Given the description of an element on the screen output the (x, y) to click on. 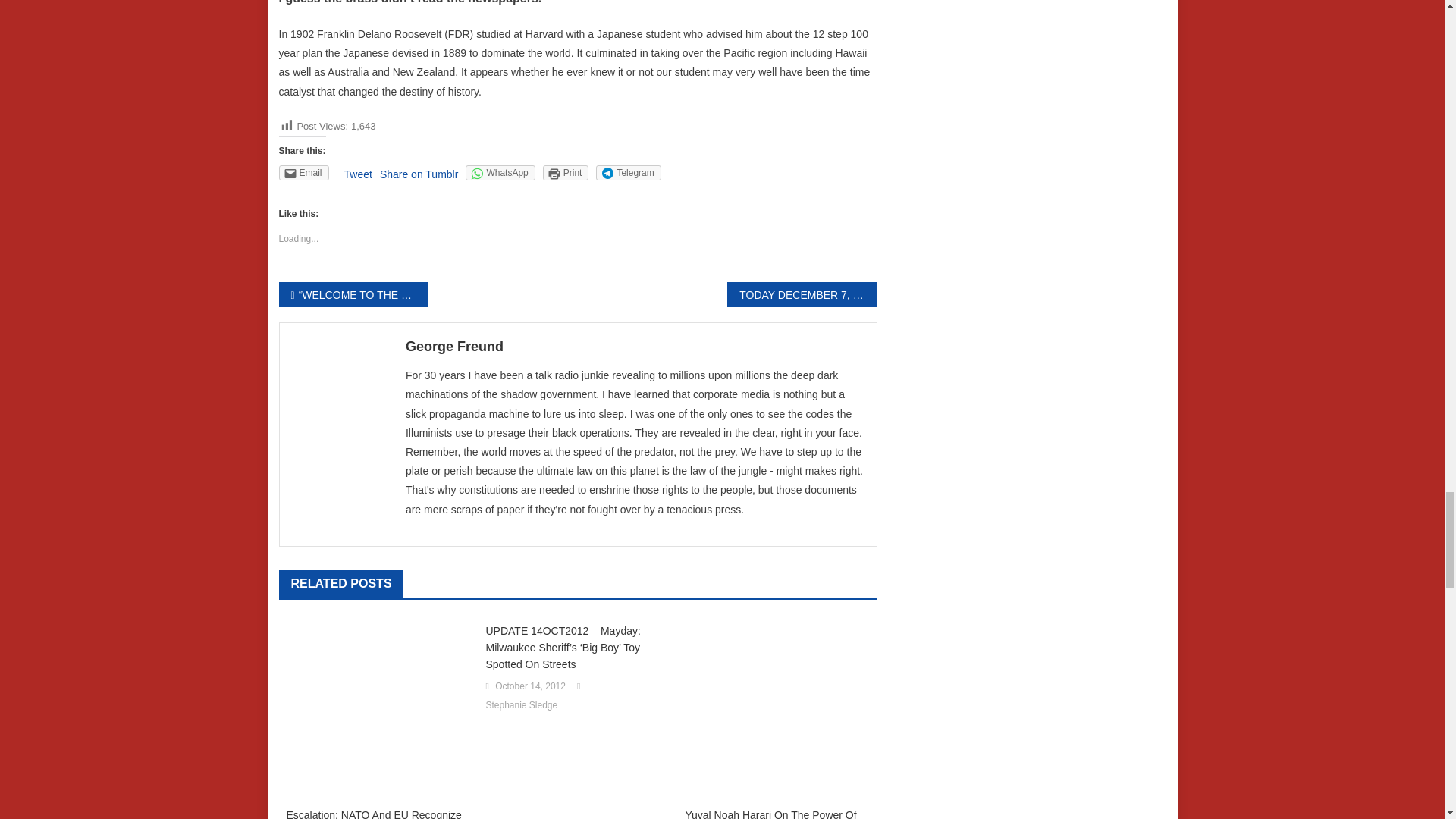
Print (566, 172)
WhatsApp (499, 172)
Tweet (357, 174)
Telegram (628, 172)
Share on Tumblr (419, 174)
Click to share on Telegram (628, 172)
Share on Tumblr (419, 174)
George Freund (635, 346)
TODAY DECEMBER 7, 2011 A DATE THAT WILL LIVE IN CONSPIRACY (801, 294)
Email (304, 172)
Click to print (566, 172)
Click to share on WhatsApp (499, 172)
Click to email this to a friend (304, 172)
